Given the description of an element on the screen output the (x, y) to click on. 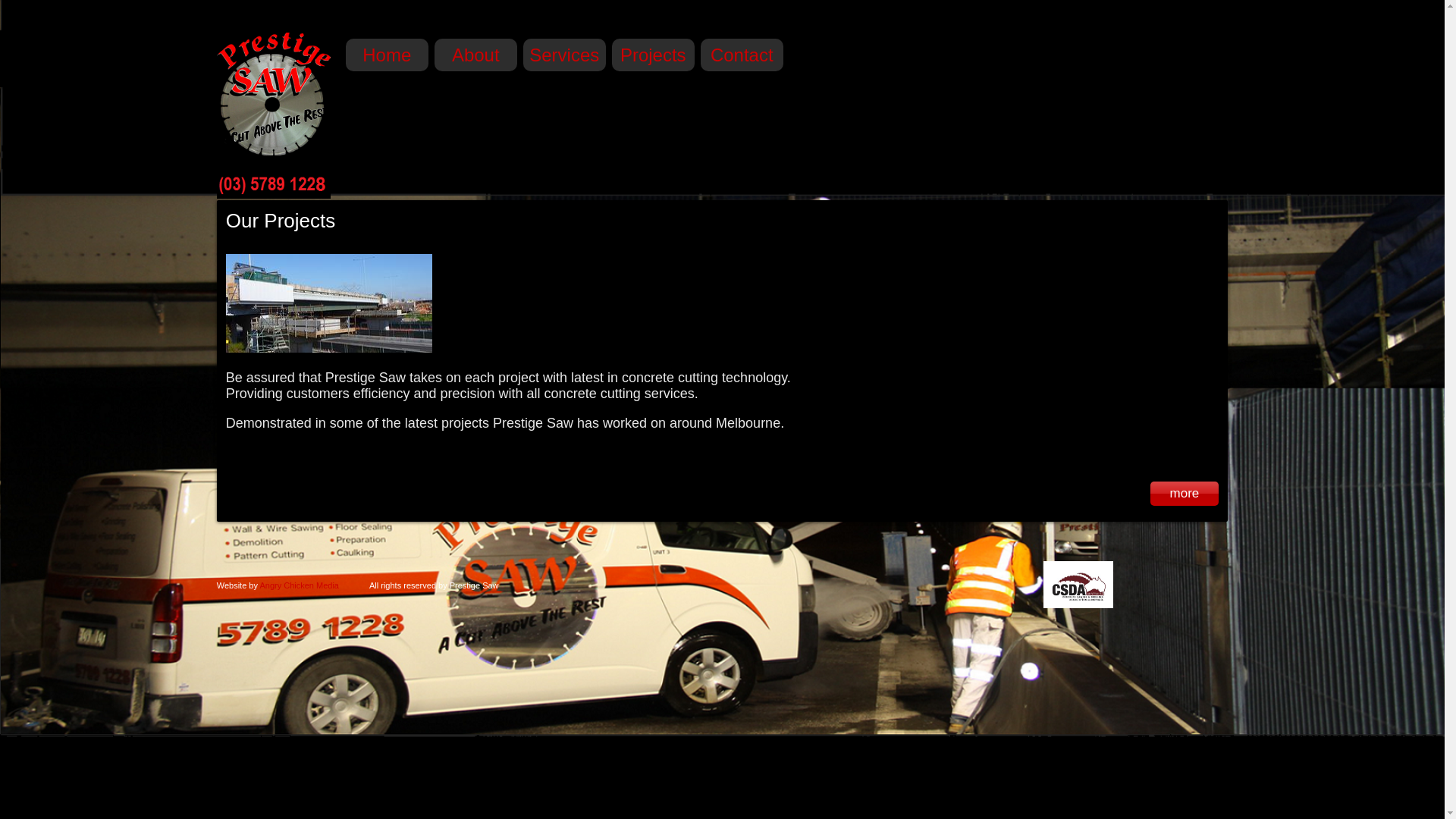
Angry Chicken Media Element type: text (298, 584)
Home Element type: text (386, 54)
About Element type: text (475, 54)
more Element type: text (1184, 493)
Contact Element type: text (741, 54)
Projects Element type: text (652, 54)
Services Element type: text (564, 54)
